Given the description of an element on the screen output the (x, y) to click on. 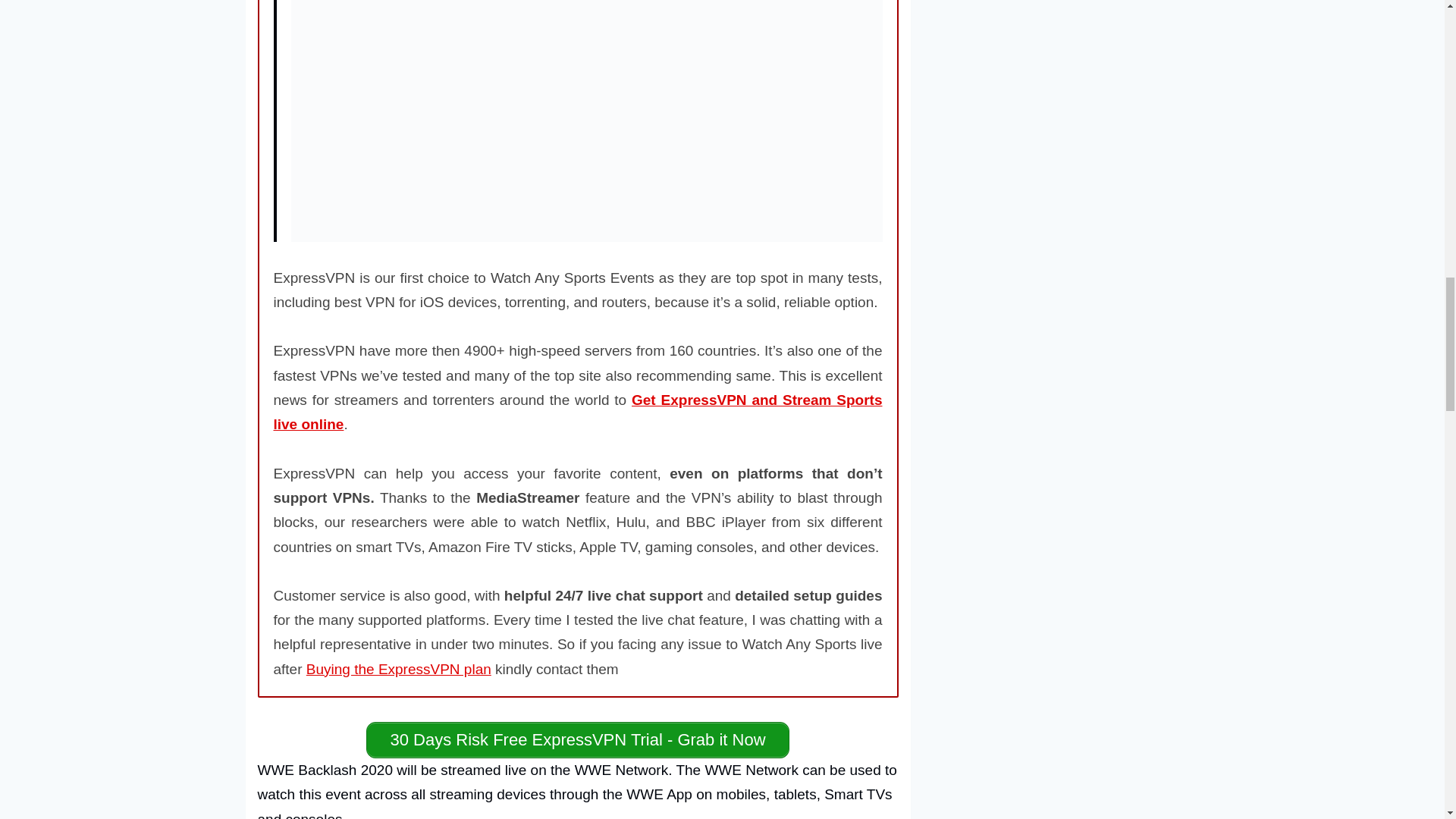
ExpressVPN Trial (577, 739)
Get ExpressVPN and Stream Sports live online (577, 412)
expressvpn sports (577, 412)
Buying the ExpressVPN plan (398, 668)
ExpressVPN (398, 668)
30 Days Risk Free ExpressVPN Trial - Grab it Now (577, 739)
